Given the description of an element on the screen output the (x, y) to click on. 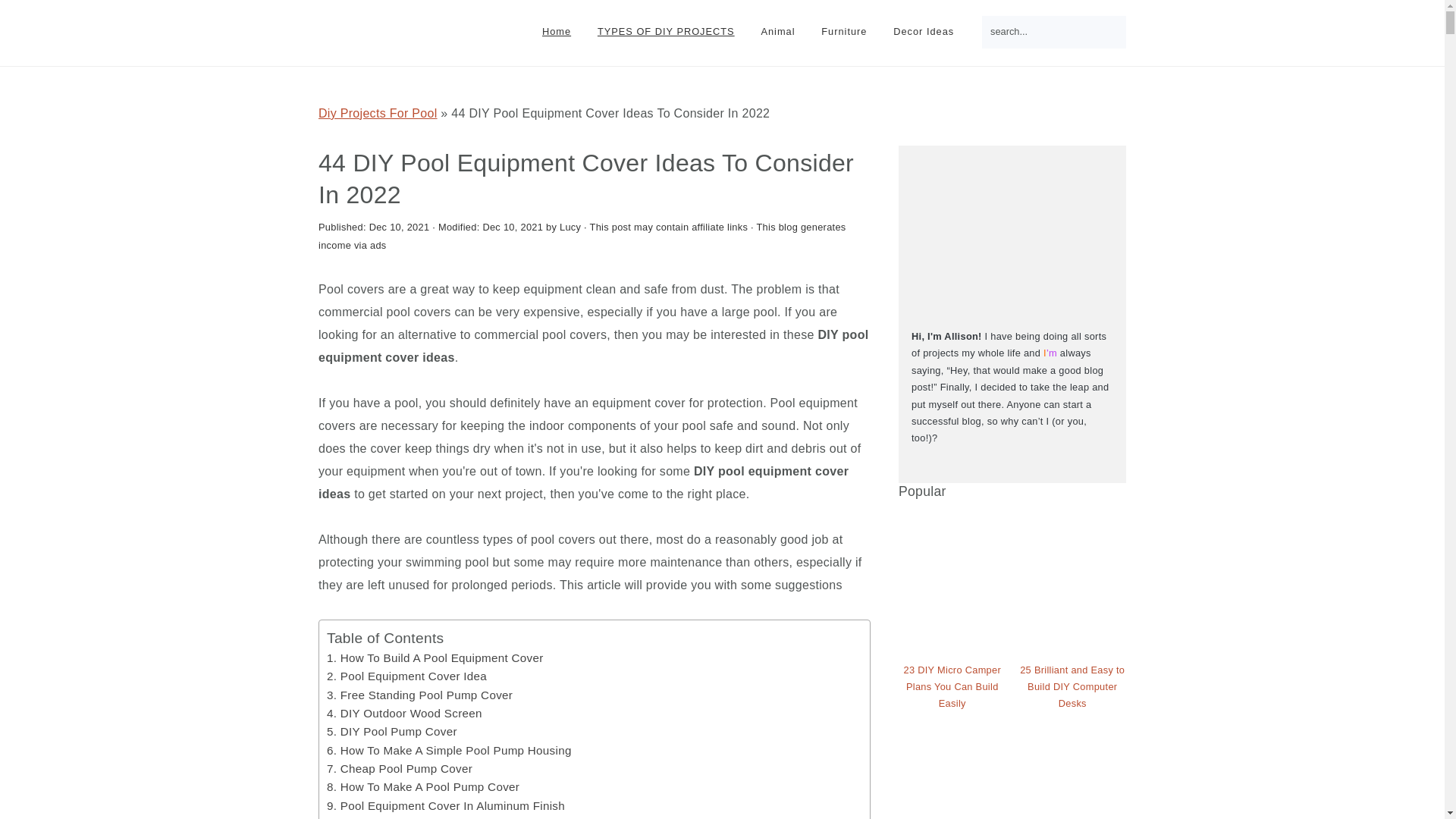
Home (556, 32)
6. How To Make A Simple Pool Pump Housing (449, 749)
Search (1147, 26)
3. Free Standing Pool Pump Cover (419, 694)
Animal (777, 32)
1. How To Build A Pool Equipment Cover (434, 657)
10. Blue Pool Pump Cover (396, 818)
8. How To Make A Pool Pump Cover (422, 786)
TYPES OF DIY PROJECTS (665, 32)
Decor Ideas (923, 32)
9. Pool Equipment Cover In Aluminum Finish (445, 805)
Furniture (843, 32)
Search (1147, 26)
7. Cheap Pool Pump Cover (398, 768)
